Given the description of an element on the screen output the (x, y) to click on. 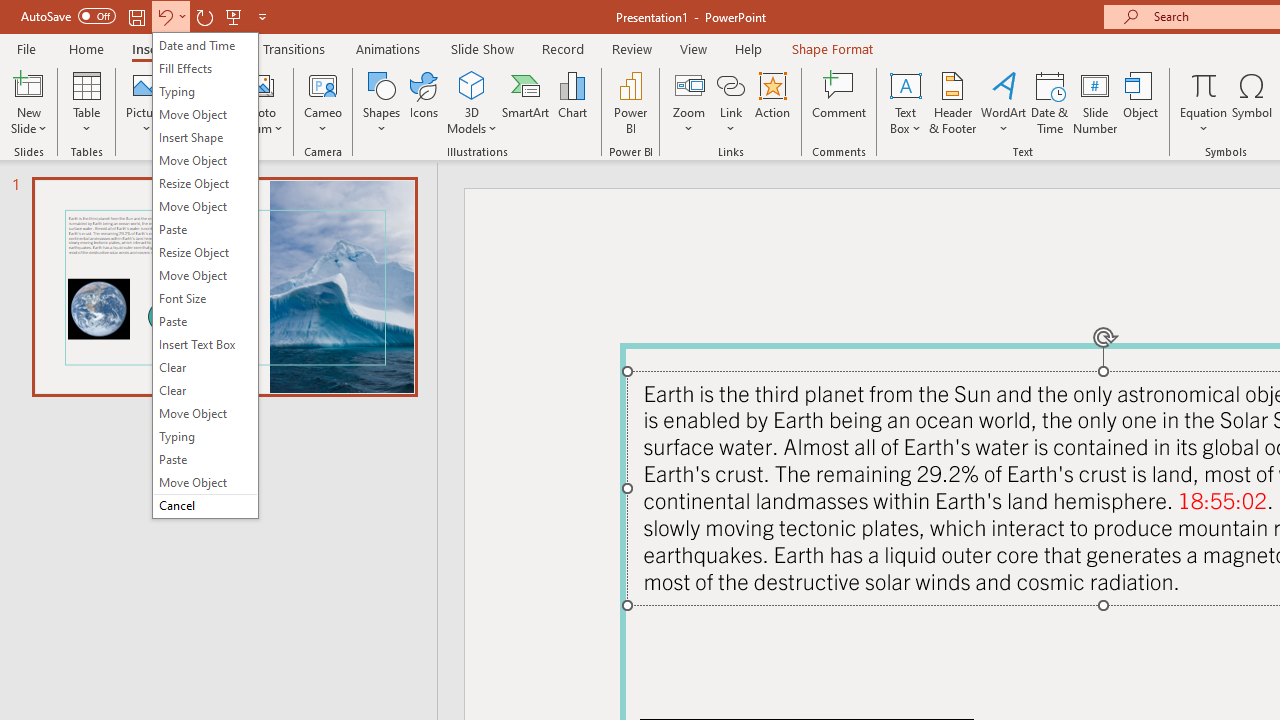
From Beginning (234, 15)
Object... (1141, 102)
Cameo (323, 102)
WordArt (1004, 102)
Date & Time... (1050, 102)
Power BI (630, 102)
Equation (1203, 84)
Header & Footer... (952, 102)
Link (731, 84)
Icons (424, 102)
Save (136, 15)
Shapes (381, 102)
